Given the description of an element on the screen output the (x, y) to click on. 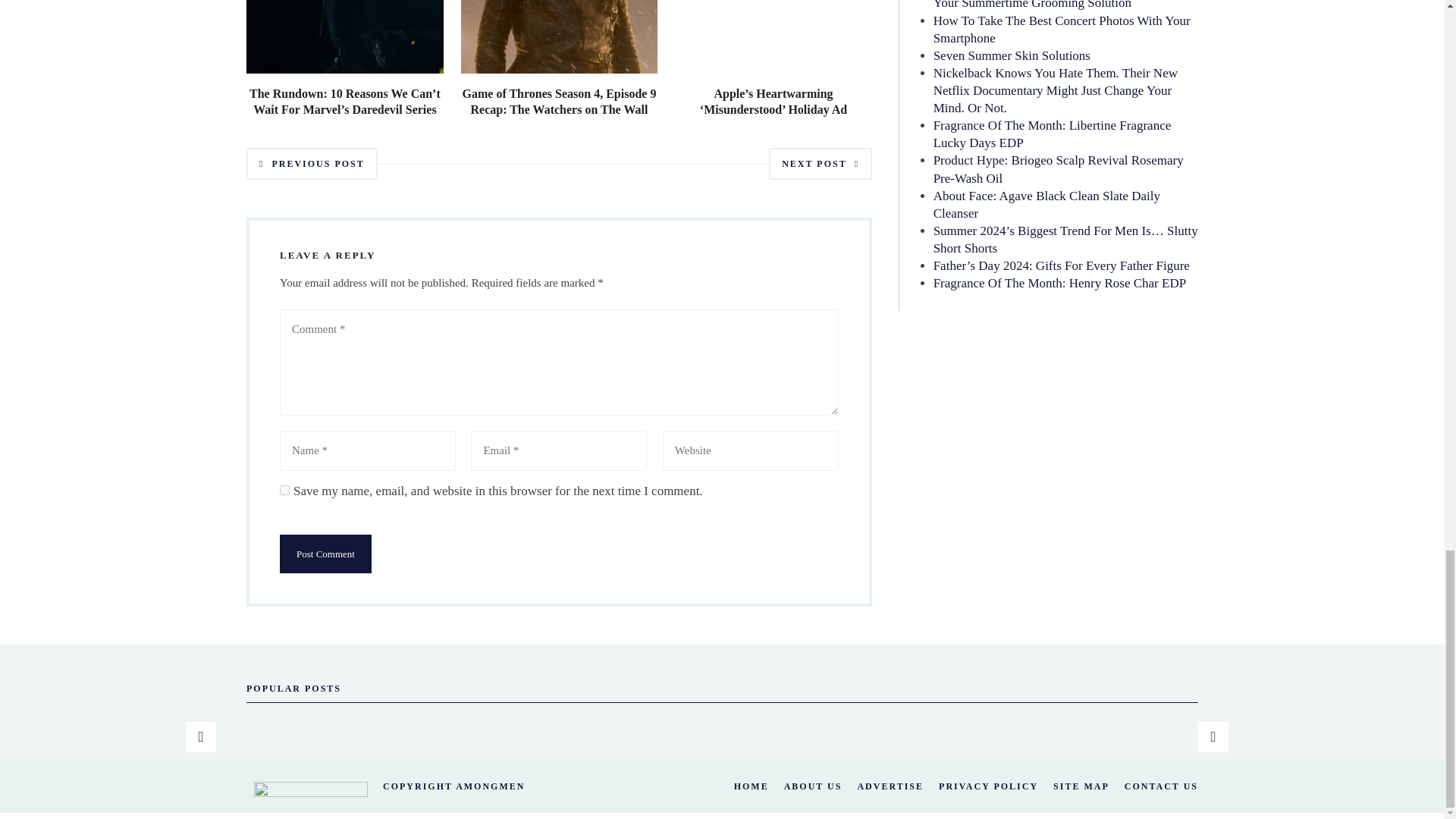
PREVIOUS POST (311, 163)
NEXT POST (820, 163)
Post Comment (325, 552)
yes (284, 490)
Post Comment (325, 552)
